Given the description of an element on the screen output the (x, y) to click on. 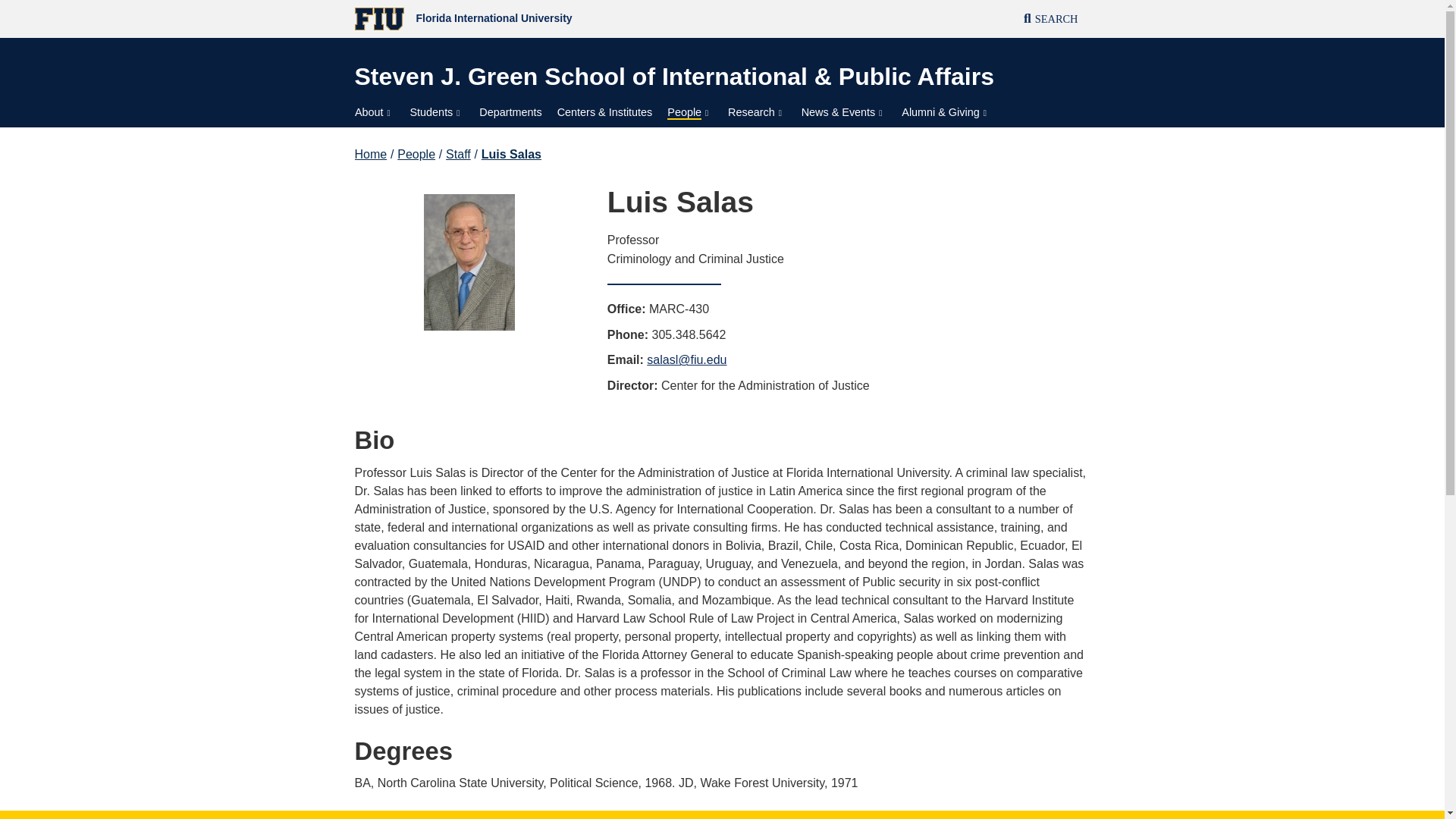
Departments (509, 112)
About (375, 112)
People (689, 112)
Research (756, 112)
Florida International University (538, 19)
SEARCH (1050, 20)
Students (437, 112)
